Given the description of an element on the screen output the (x, y) to click on. 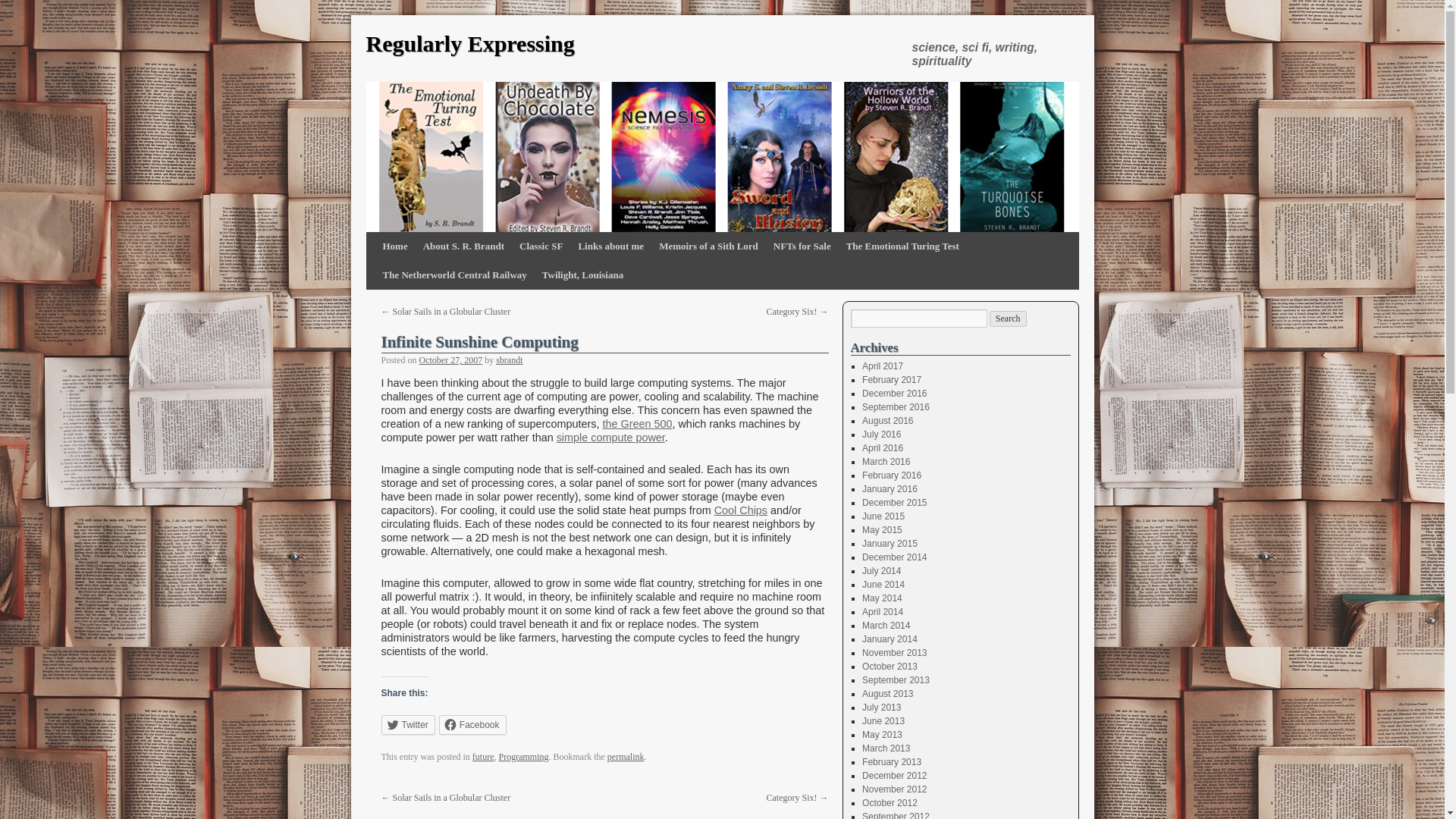
Home (394, 246)
September 2016 (895, 407)
Search (1008, 318)
April 2016 (881, 448)
About S. R. Brandt (463, 246)
Twitter (406, 724)
Regularly Expressing (469, 43)
Regularly Expressing (469, 43)
The Emotional Turing Test (902, 246)
October 27, 2007 (451, 359)
Links about me (610, 246)
April 2017 (881, 366)
Memoirs of a Sith Lord (707, 246)
December 2016 (893, 393)
August 2016 (886, 420)
